Given the description of an element on the screen output the (x, y) to click on. 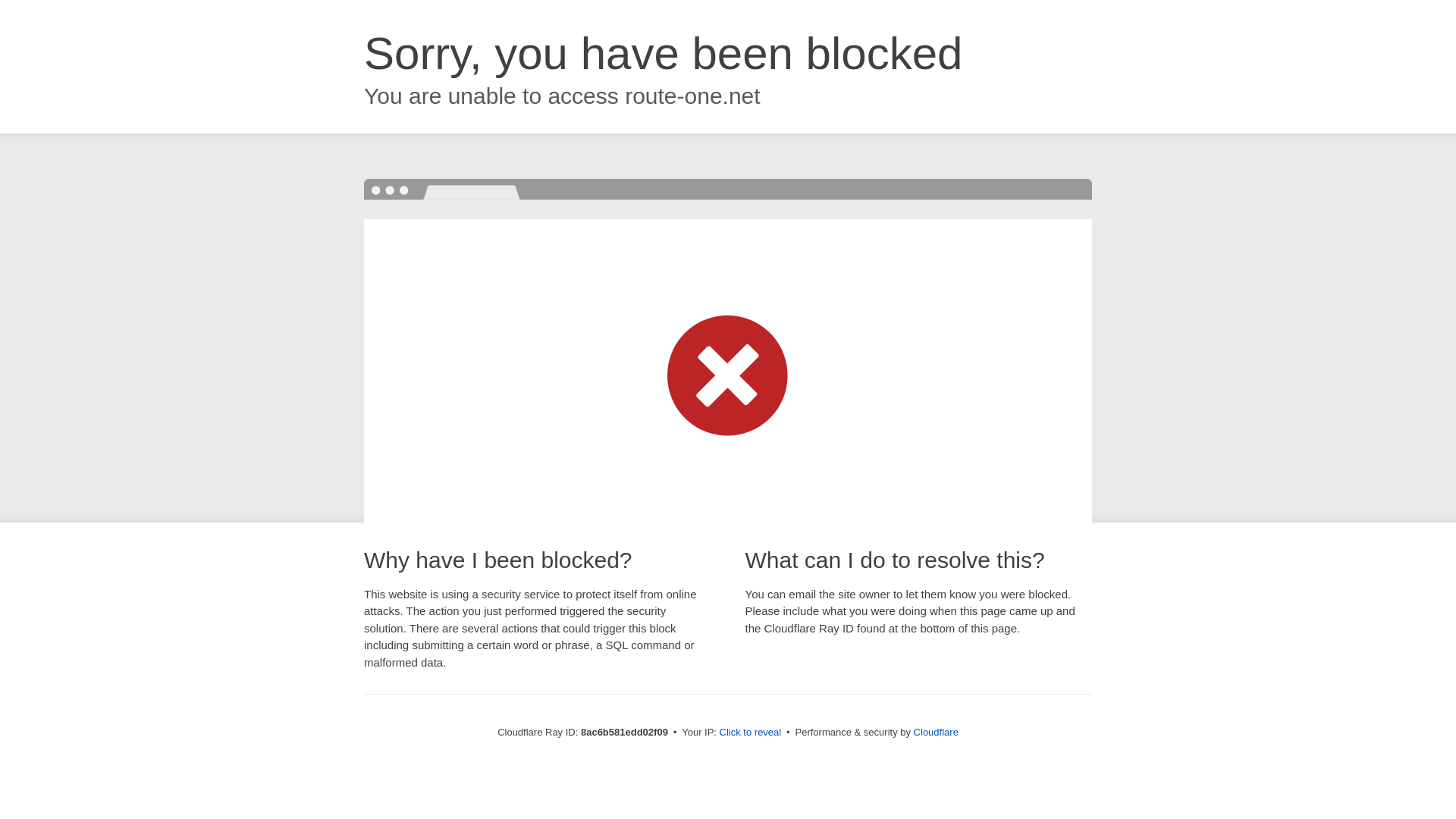
Cloudflare (936, 731)
Click to reveal (750, 732)
